Given the description of an element on the screen output the (x, y) to click on. 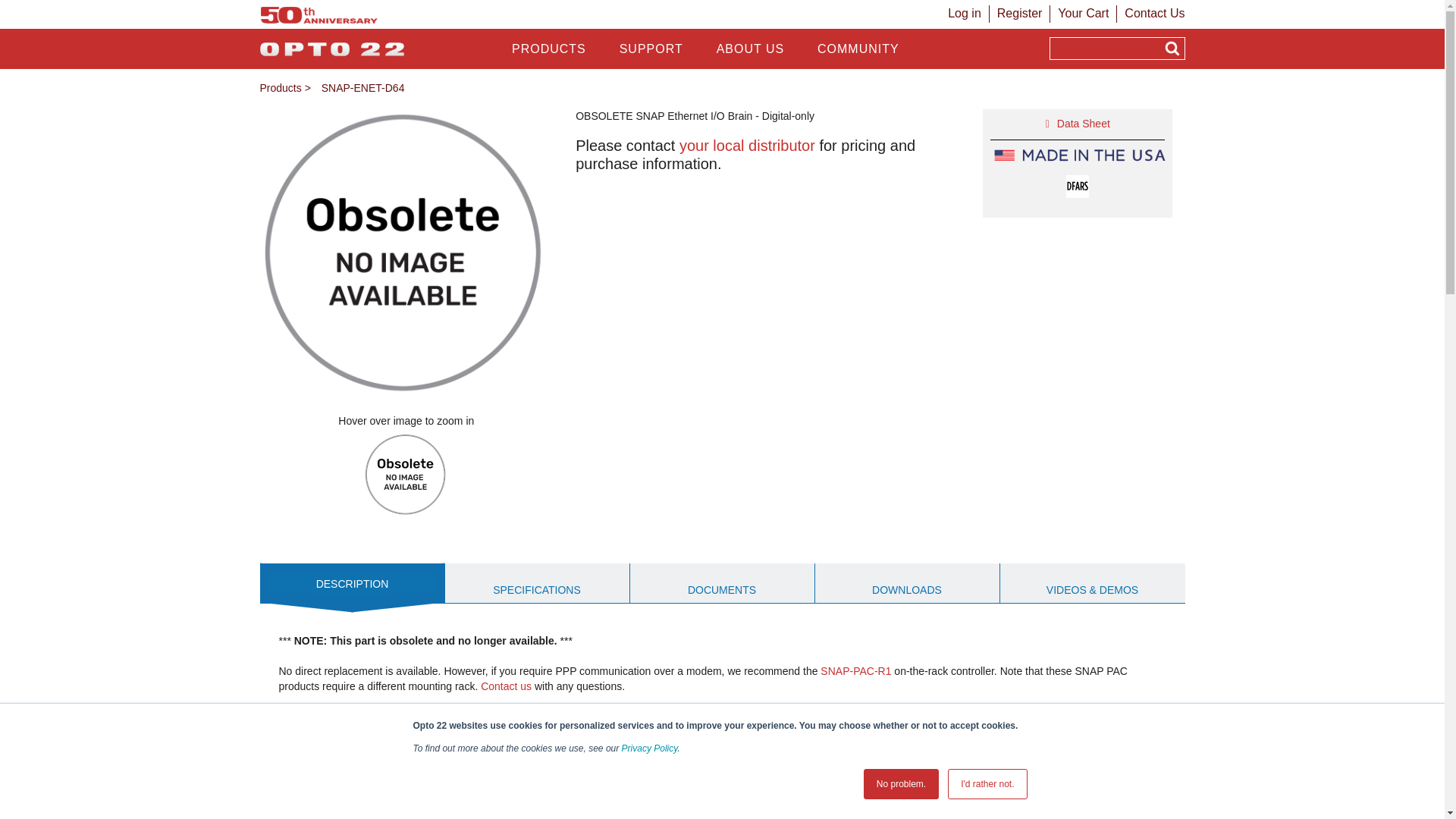
Log in (964, 12)
Contact Opto 22 (1154, 12)
PRODUCTS (548, 48)
Register (1019, 12)
Register (1019, 12)
See SNAP-PAC-R1 (856, 671)
SUPPORT (651, 48)
Privacy Policy (649, 747)
No problem. (901, 784)
I'd rather not. (986, 784)
Opto 22's 50th Anniversary, 1974-2024 (318, 20)
Search (1171, 48)
Your Cart (1083, 12)
Contact Us (1154, 12)
